Given the description of an element on the screen output the (x, y) to click on. 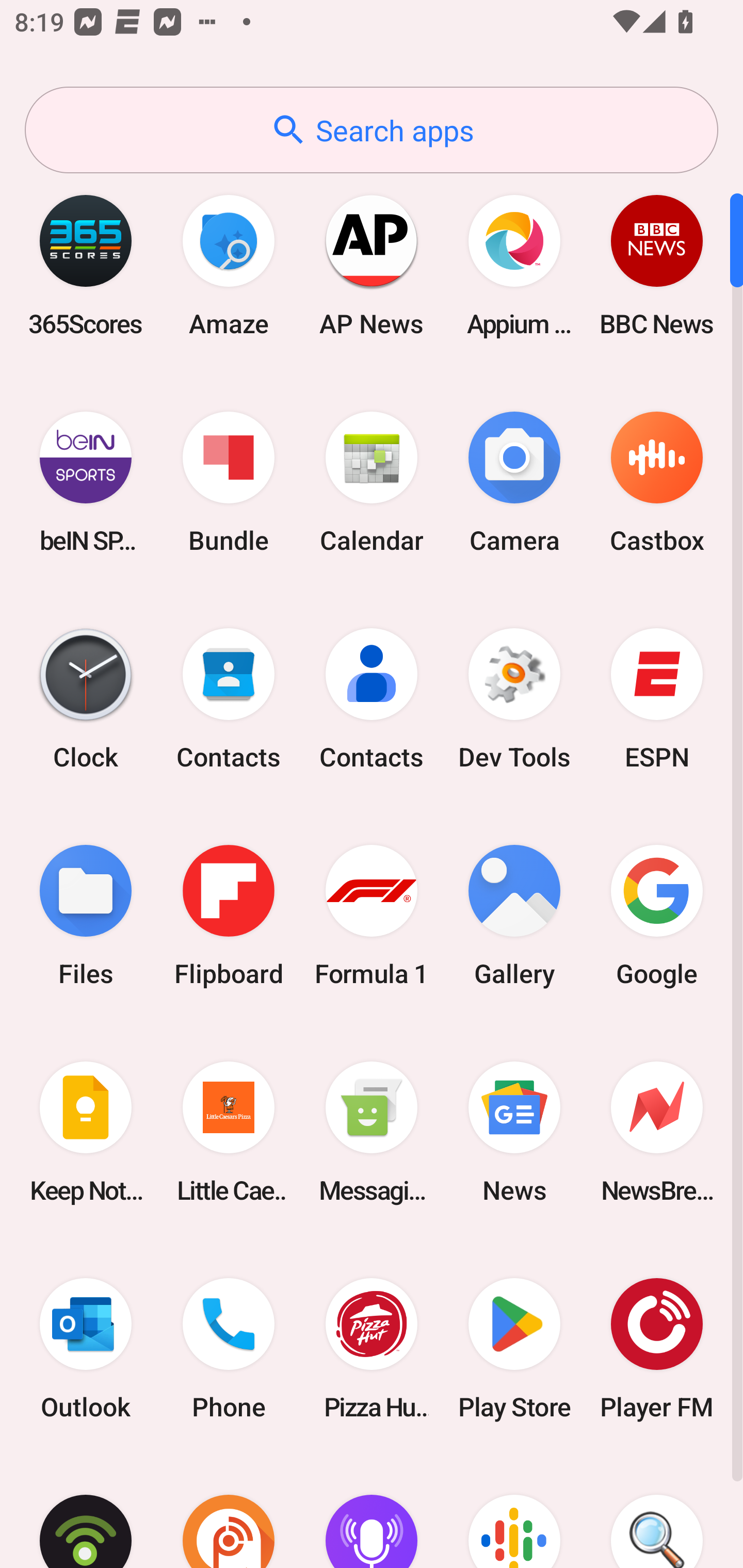
  Search apps (371, 130)
365Scores (85, 264)
Amaze (228, 264)
AP News (371, 264)
Appium Settings (514, 264)
BBC News (656, 264)
beIN SPORTS (85, 482)
Bundle (228, 482)
Calendar (371, 482)
Camera (514, 482)
Castbox (656, 482)
Clock (85, 699)
Contacts (228, 699)
Contacts (371, 699)
Dev Tools (514, 699)
ESPN (656, 699)
Files (85, 915)
Flipboard (228, 915)
Formula 1 (371, 915)
Gallery (514, 915)
Google (656, 915)
Keep Notes (85, 1131)
Little Caesars Pizza (228, 1131)
Messaging (371, 1131)
News (514, 1131)
NewsBreak (656, 1131)
Outlook (85, 1348)
Phone (228, 1348)
Pizza Hut HK & Macau (371, 1348)
Play Store (514, 1348)
Player FM (656, 1348)
Podbean (85, 1512)
Podcast Addict (228, 1512)
Podcast Player (371, 1512)
Podcasts (514, 1512)
Search (656, 1512)
